Given the description of an element on the screen output the (x, y) to click on. 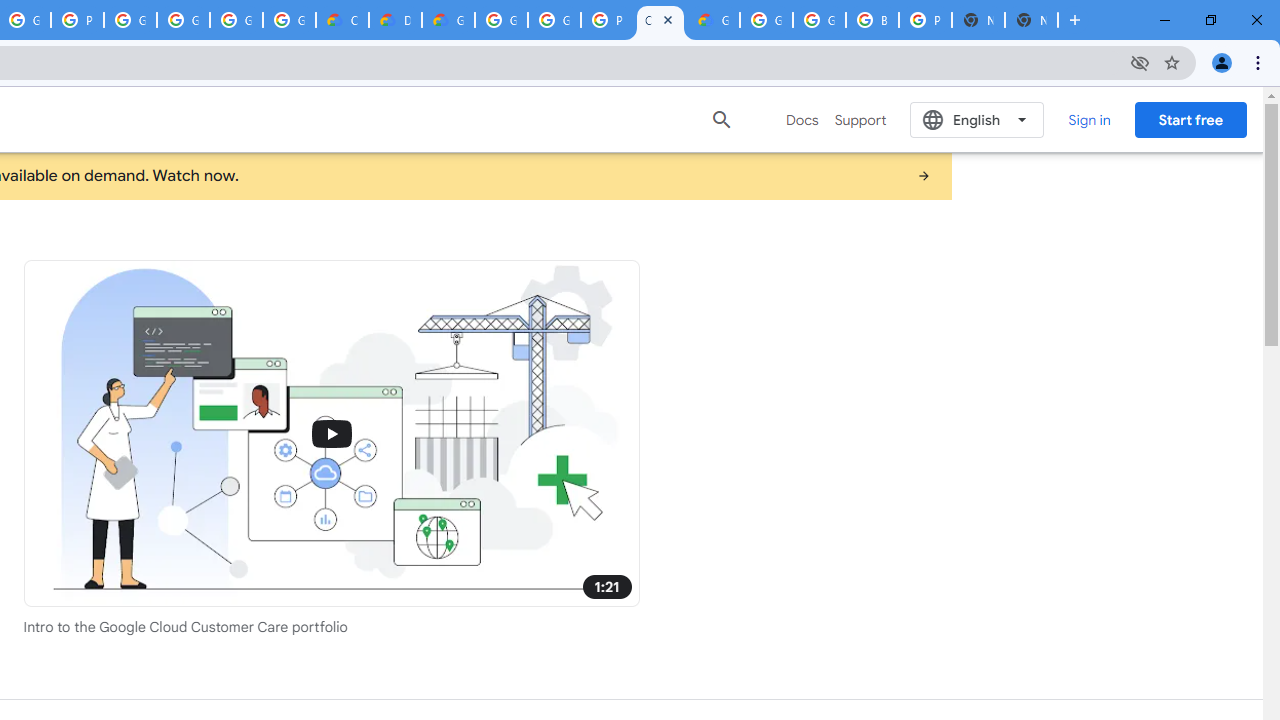
Customer Care | Google Cloud (342, 20)
